Given the description of an element on the screen output the (x, y) to click on. 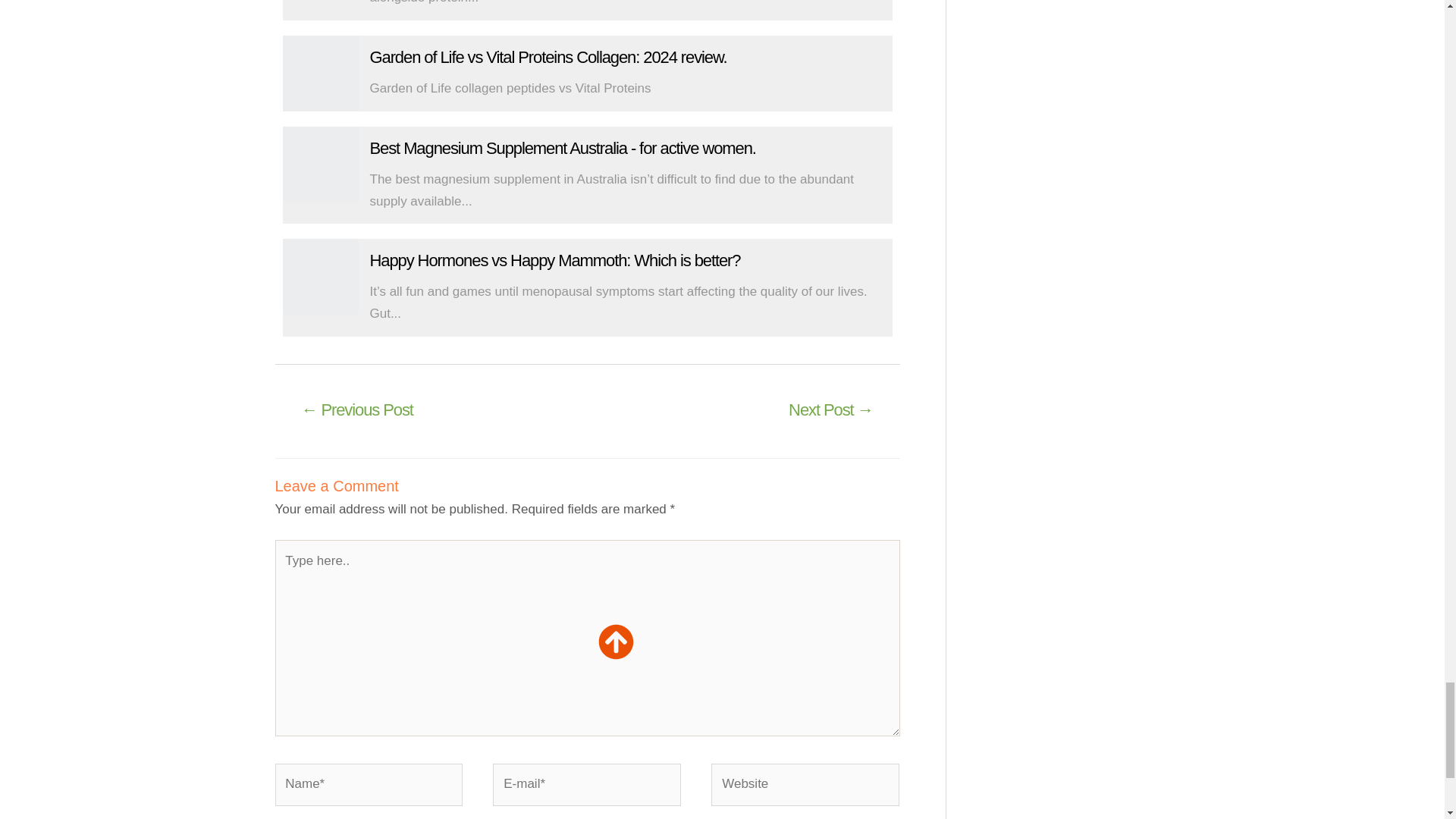
Garden of Life vs Vital Proteins Collagen: 2024 review. (320, 73)
Happy Hormones vs Happy Mammoth: Which is better? (555, 260)
Garden of Life vs Vital Proteins Collagen: 2024 review. (547, 56)
Best Magnesium Supplement Australia - for active women. (562, 148)
Happy Hormones vs Happy Mammoth: Which is better? (320, 276)
Best Magnesium Supplement Australia - for active women. (320, 164)
